Given the description of an element on the screen output the (x, y) to click on. 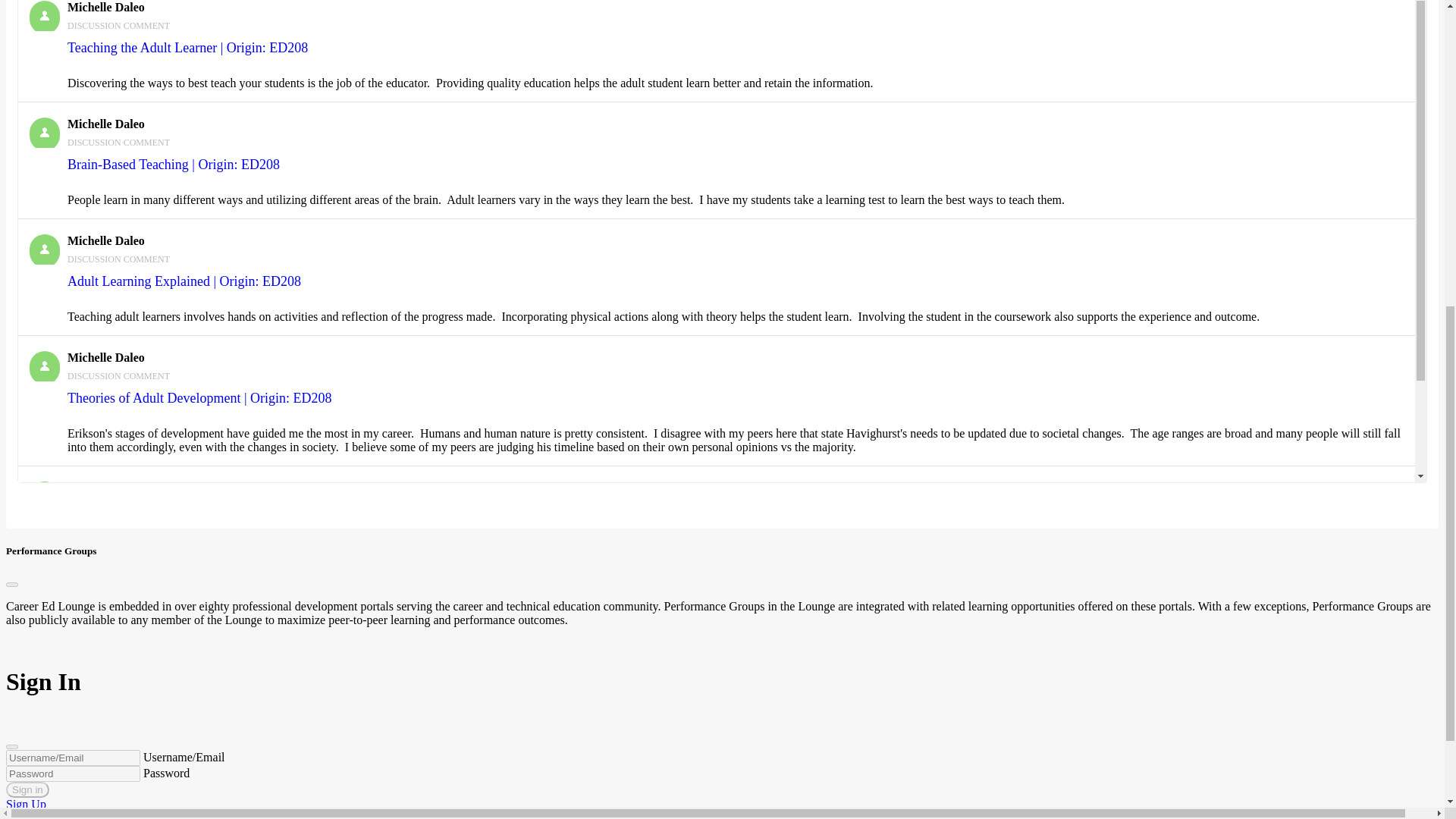
Michelle Daleo (105, 123)
Michelle Daleo (44, 15)
Michelle Daleo (105, 240)
Sign in (27, 789)
Michelle Daleo (105, 6)
Michelle Daleo (44, 132)
Michelle Daleo (105, 487)
Michelle Daleo (44, 366)
Michelle Daleo (44, 249)
Michelle Daleo (44, 496)
Michelle Daleo (105, 357)
